Given the description of an element on the screen output the (x, y) to click on. 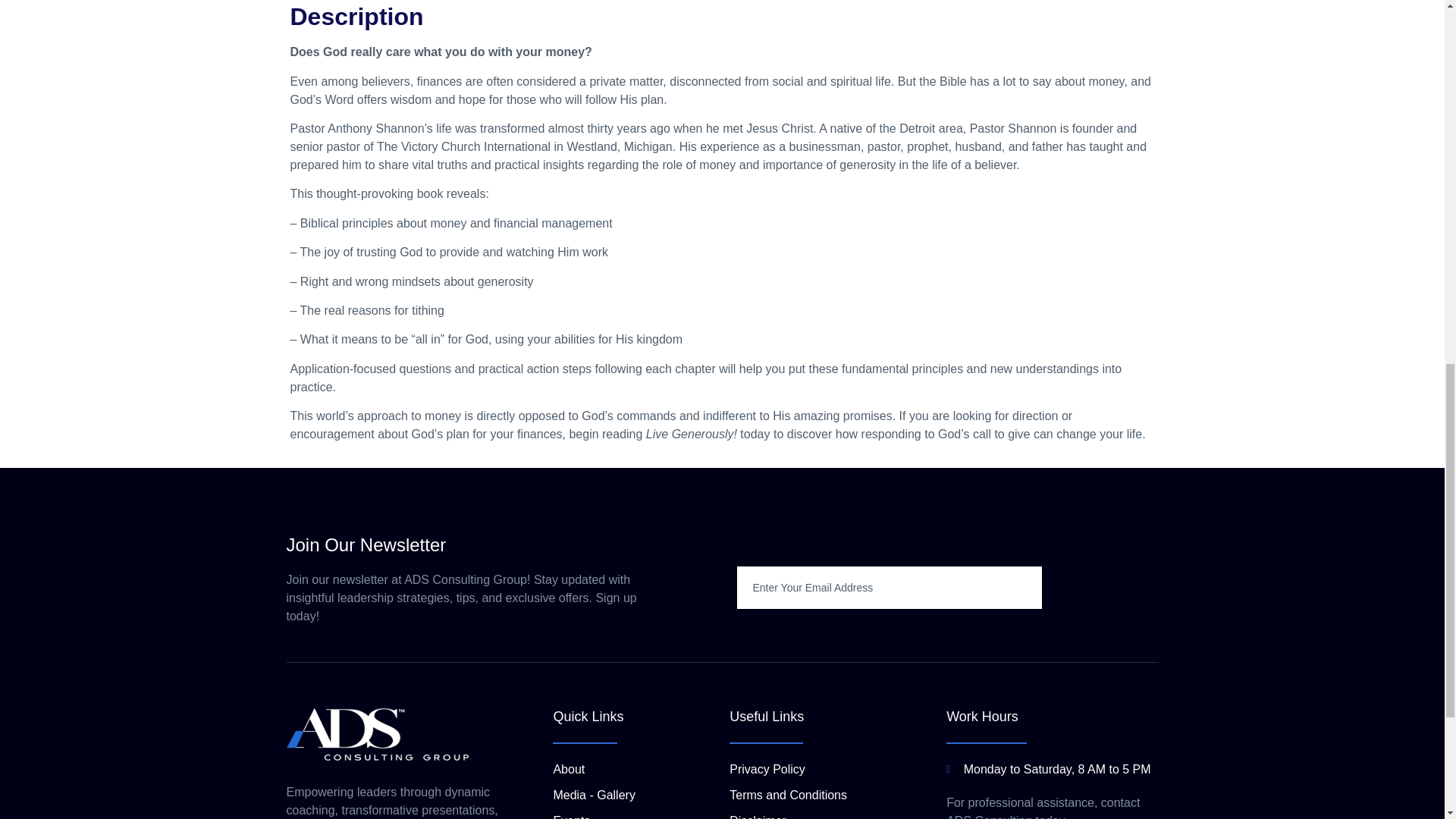
ADS-Consulting-Group (377, 734)
Events (637, 815)
Media - Gallery (637, 795)
About (637, 769)
